Given the description of an element on the screen output the (x, y) to click on. 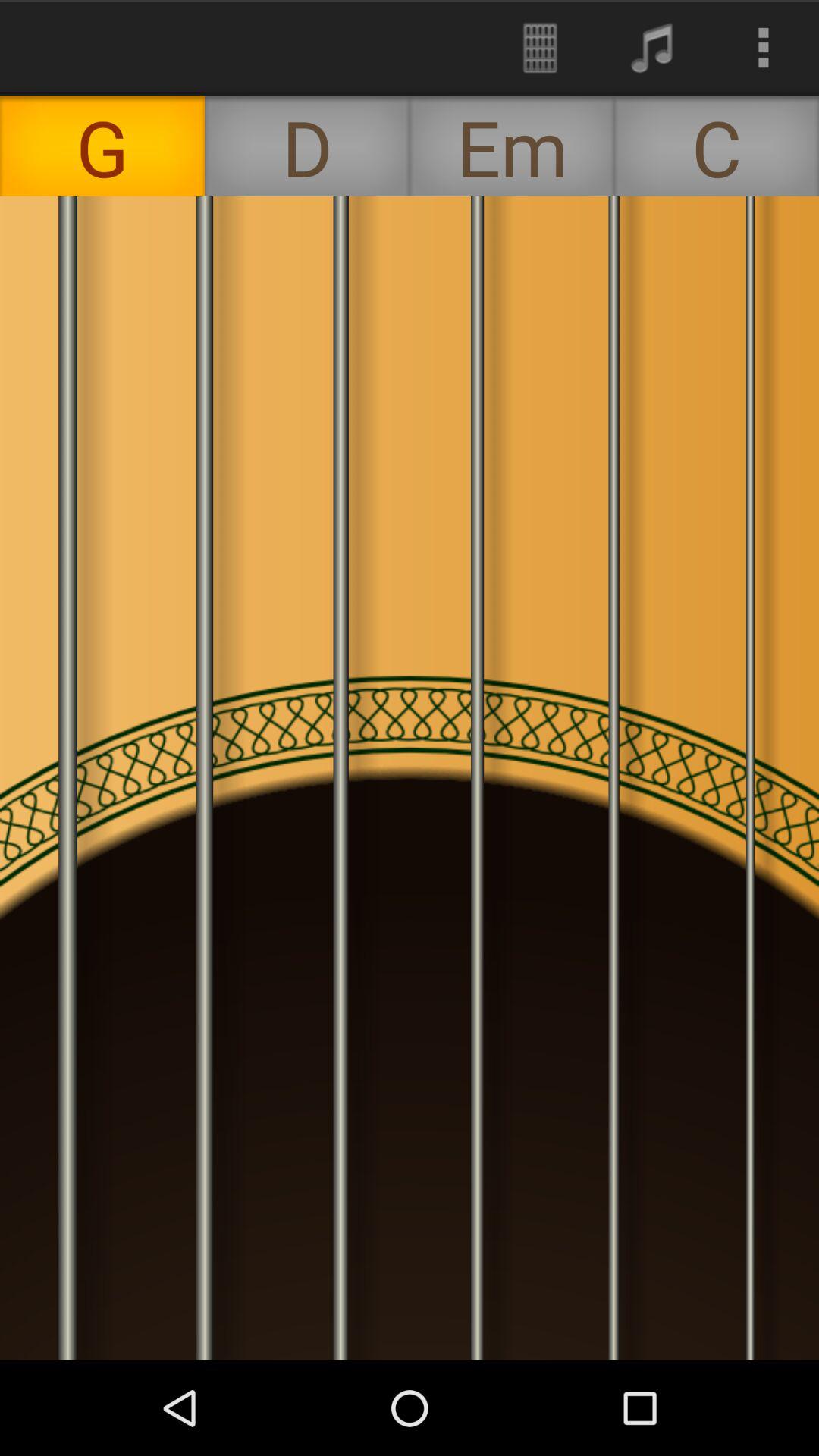
click icon to the left of c (511, 145)
